Given the description of an element on the screen output the (x, y) to click on. 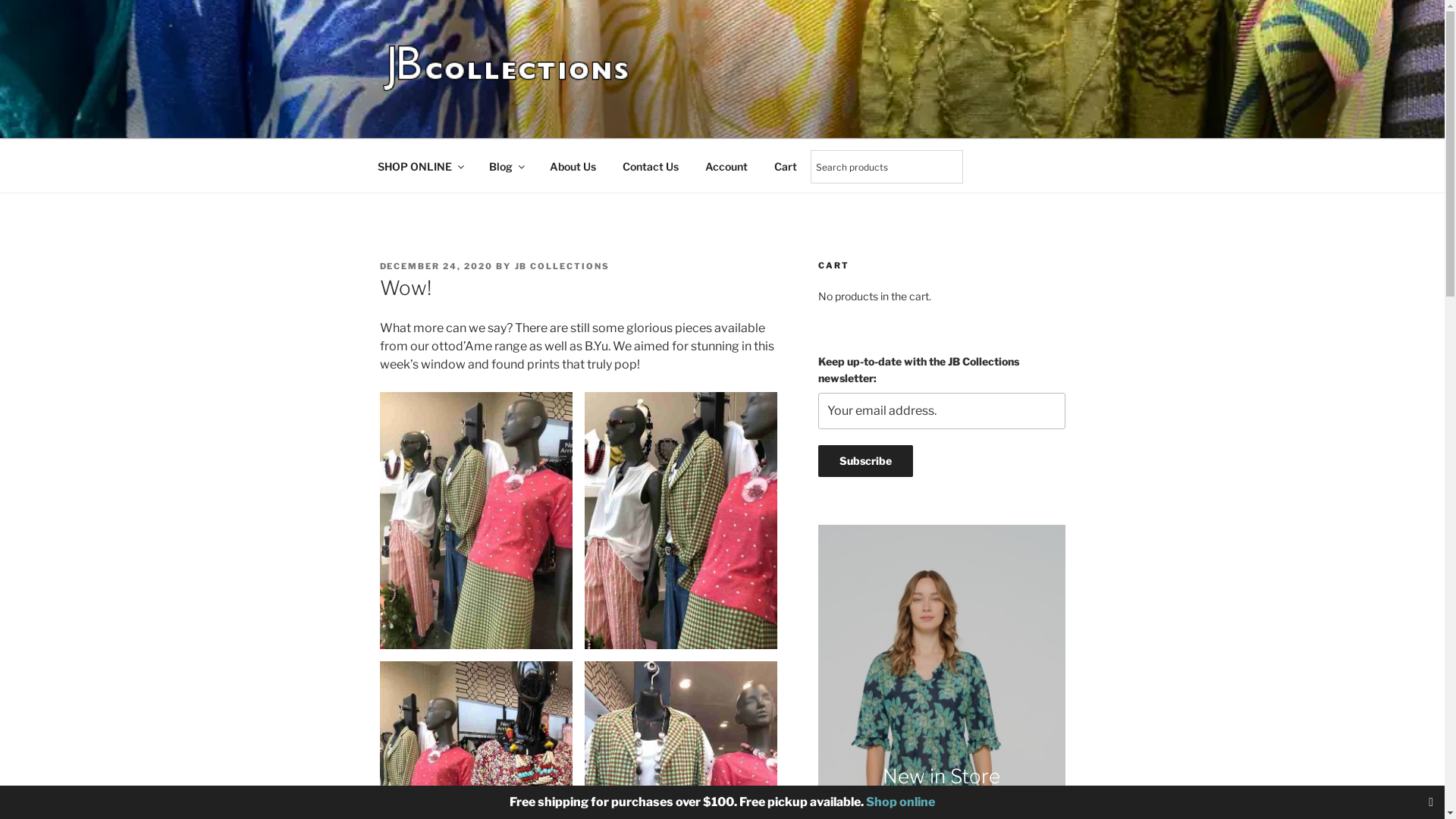
Blog Element type: text (506, 165)
JB COLLECTIONS Element type: text (561, 265)
Contact Us Element type: text (650, 165)
Subscribe Element type: text (865, 460)
About Us Element type: text (572, 165)
SHOP ONLINE Element type: text (419, 165)
Cart Element type: text (785, 165)
JB COLLECTIONS Element type: text (513, 118)
Account Element type: text (725, 165)
Shop online Element type: text (900, 801)
DECEMBER 24, 2020 Element type: text (435, 265)
